Given the description of an element on the screen output the (x, y) to click on. 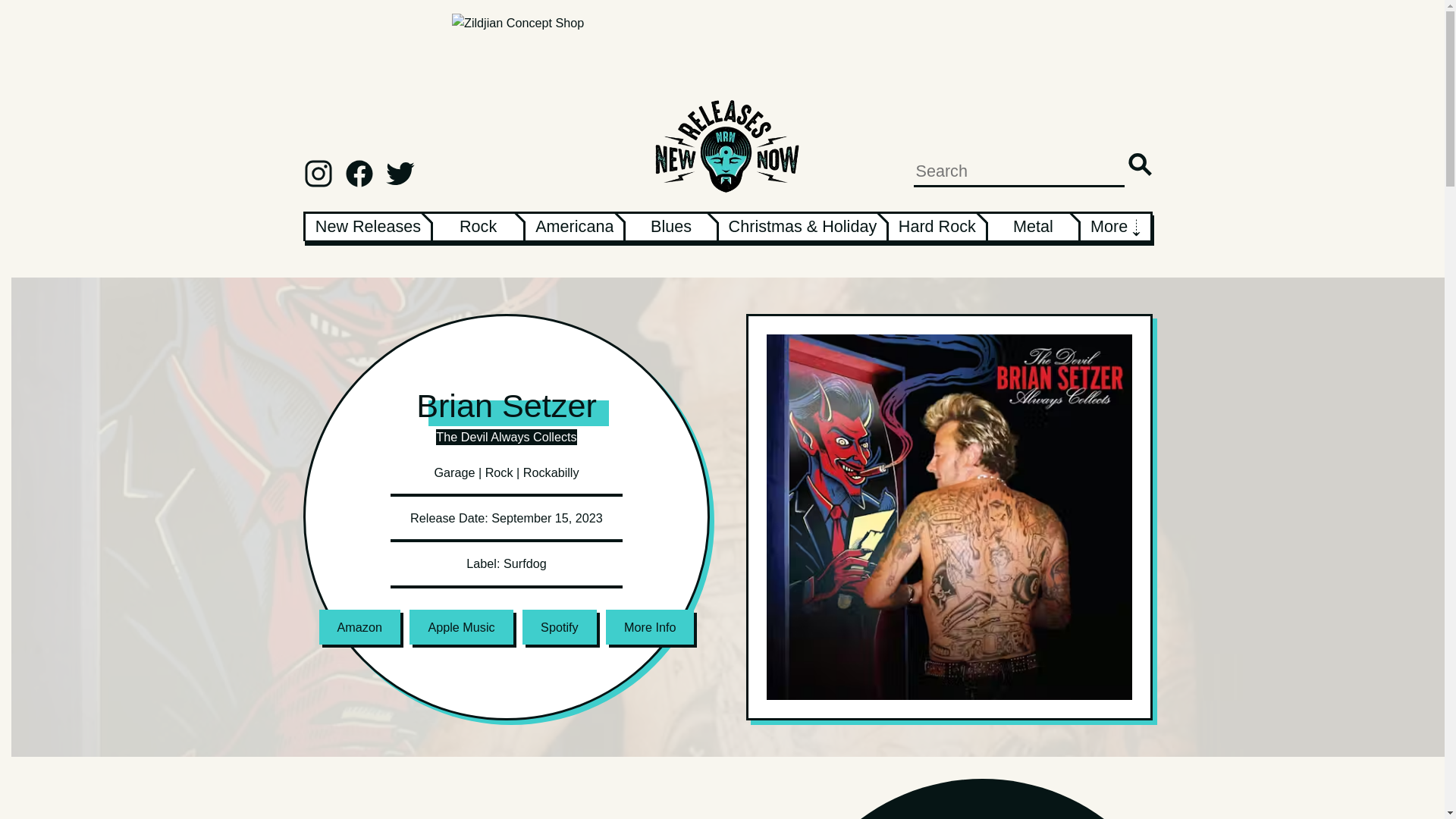
Rock (477, 226)
Blues (670, 226)
New Releases (367, 226)
Americana (573, 226)
Hard Rock (936, 226)
Metal (1032, 226)
